Given the description of an element on the screen output the (x, y) to click on. 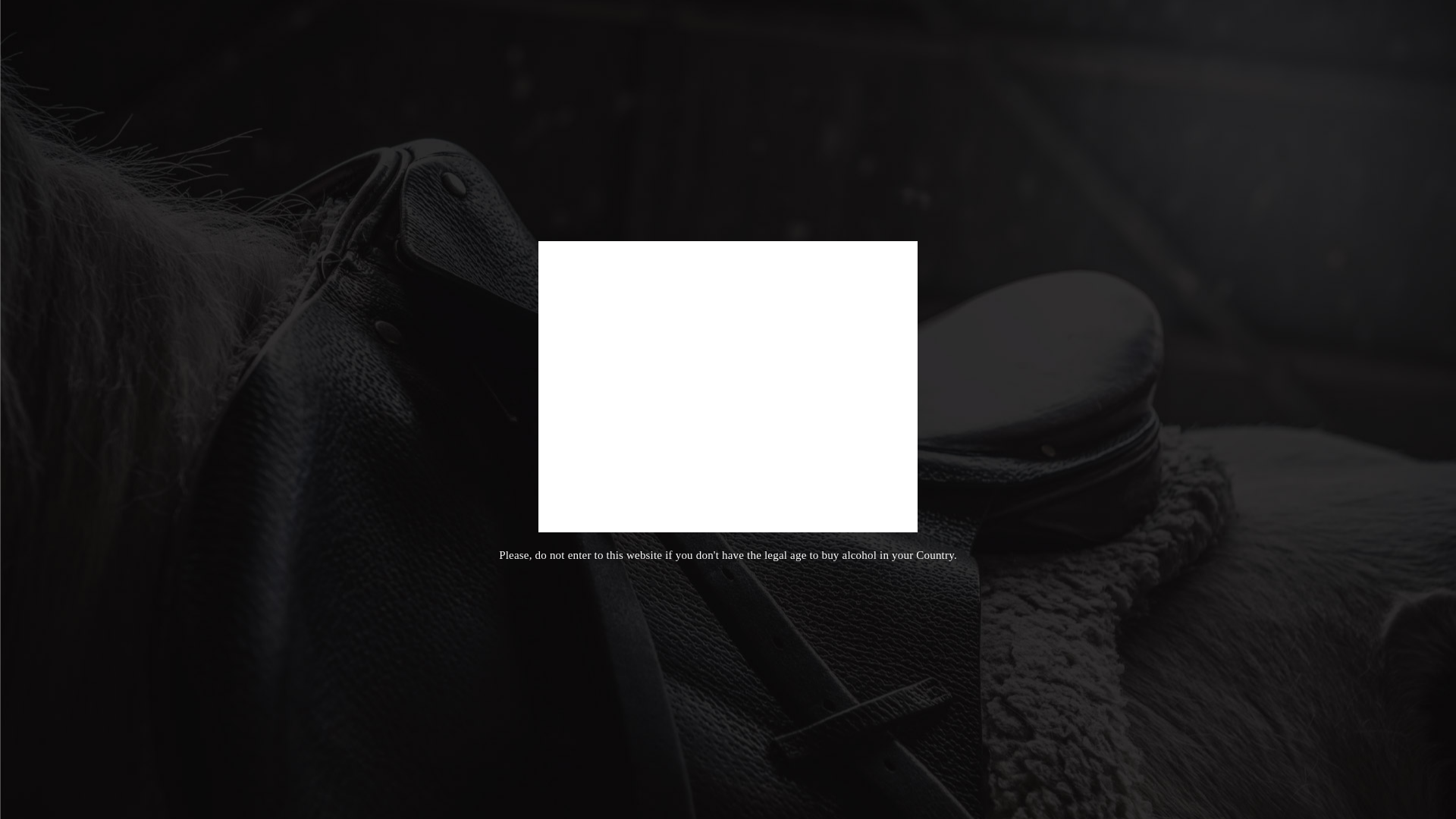
yes (684, 467)
no (772, 467)
